Given the description of an element on the screen output the (x, y) to click on. 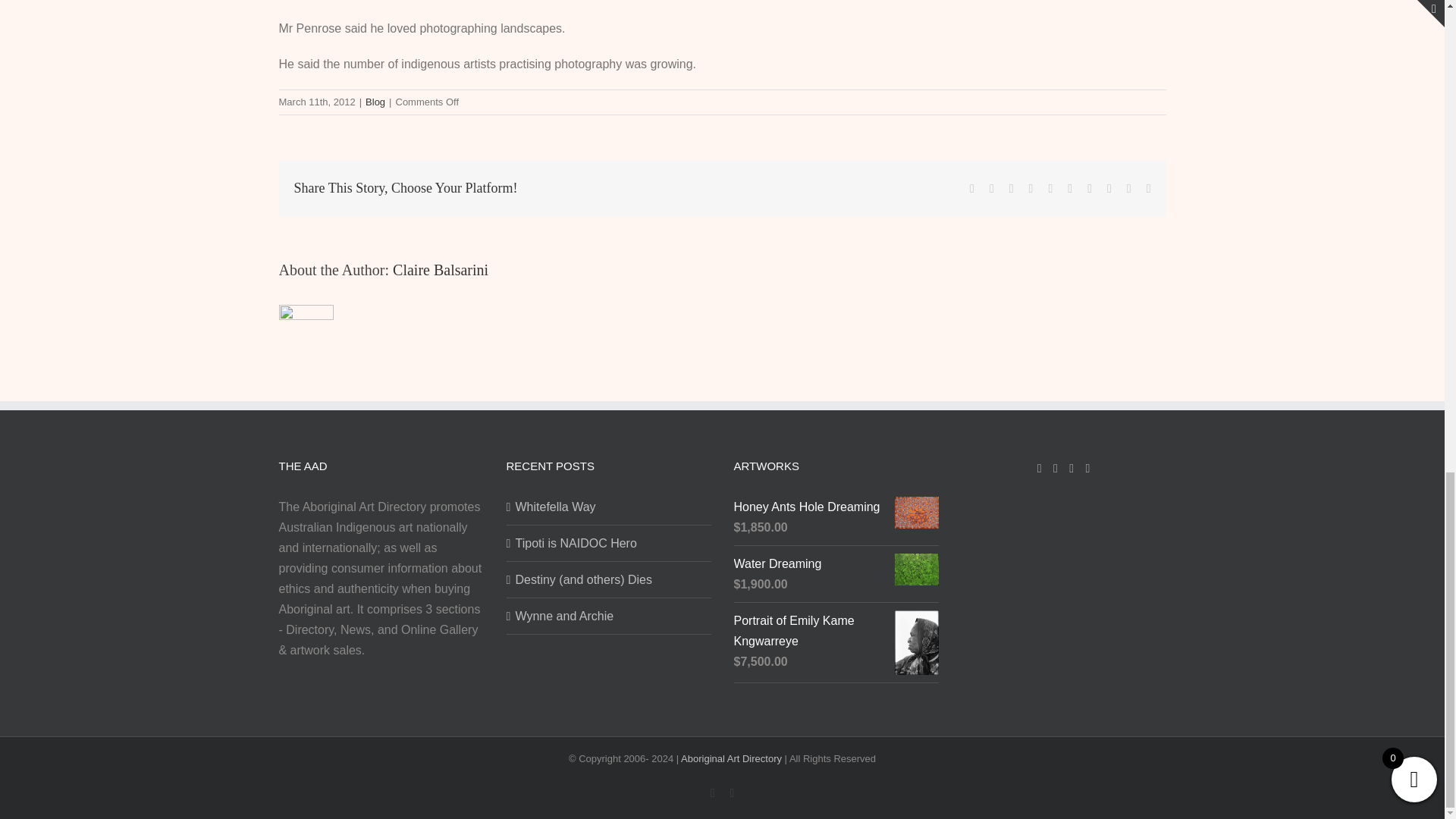
Posts by Claire Balsarini (440, 269)
